Given the description of an element on the screen output the (x, y) to click on. 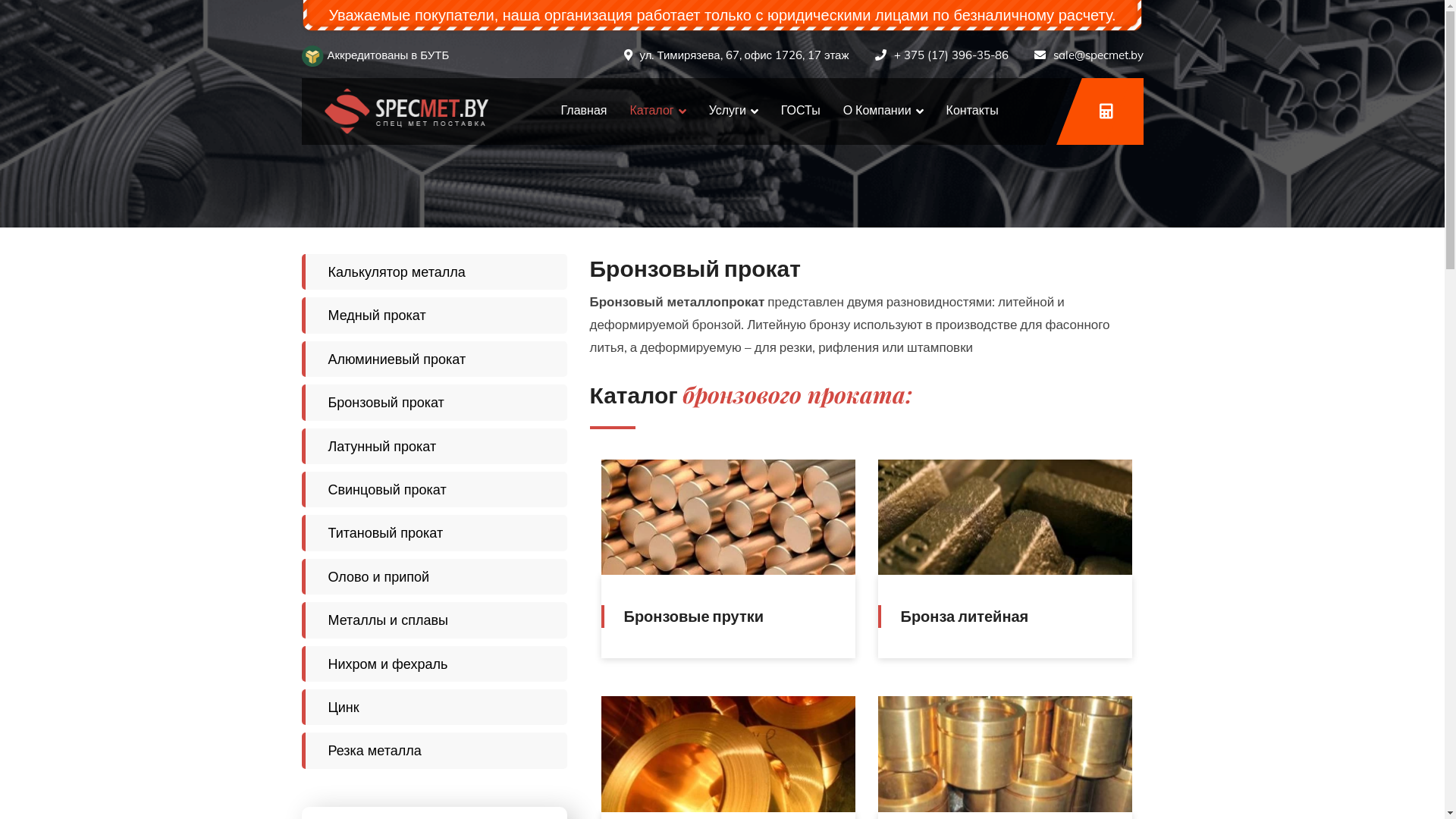
sale@specmet.by Element type: text (1097, 54)
+ 375 (17) 396-35-86 Element type: text (950, 54)
